Given the description of an element on the screen output the (x, y) to click on. 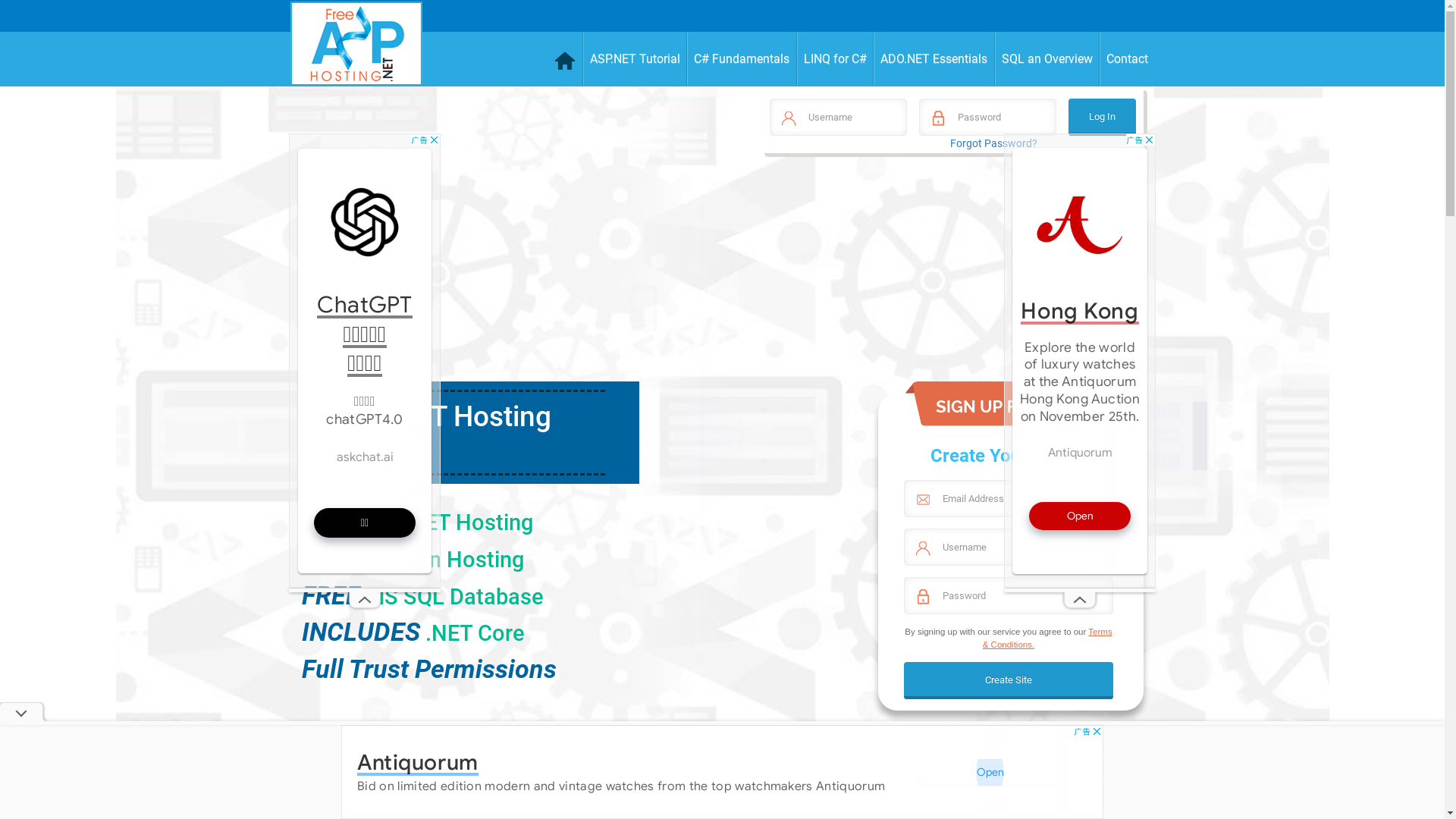
ASP.NET Core Element type: text (431, 767)
Forgot Password? Element type: text (993, 143)
Terms & Conditions. Element type: text (1047, 637)
ASP.NET Core MVC Element type: text (744, 767)
Advertisement Element type: hover (1079, 360)
Create Site Element type: text (1008, 680)
ADO.NET Essentials Element type: text (933, 58)
Advertisement Element type: hover (364, 360)
C# Fundamentals Element type: text (742, 58)
Log In Element type: text (1101, 116)
Check User Element type: text (30, 18)
LINQ for C# Element type: text (834, 58)
Advertisement Element type: hover (950, 274)
ASP.NET Hosting .NET 7 Element type: text (444, 432)
SQL an Overview Element type: text (1047, 58)
Contact Element type: text (1126, 58)
.NET 7 Element type: text (1031, 751)
ASP.NET Tutorial Element type: text (634, 58)
